Given the description of an element on the screen output the (x, y) to click on. 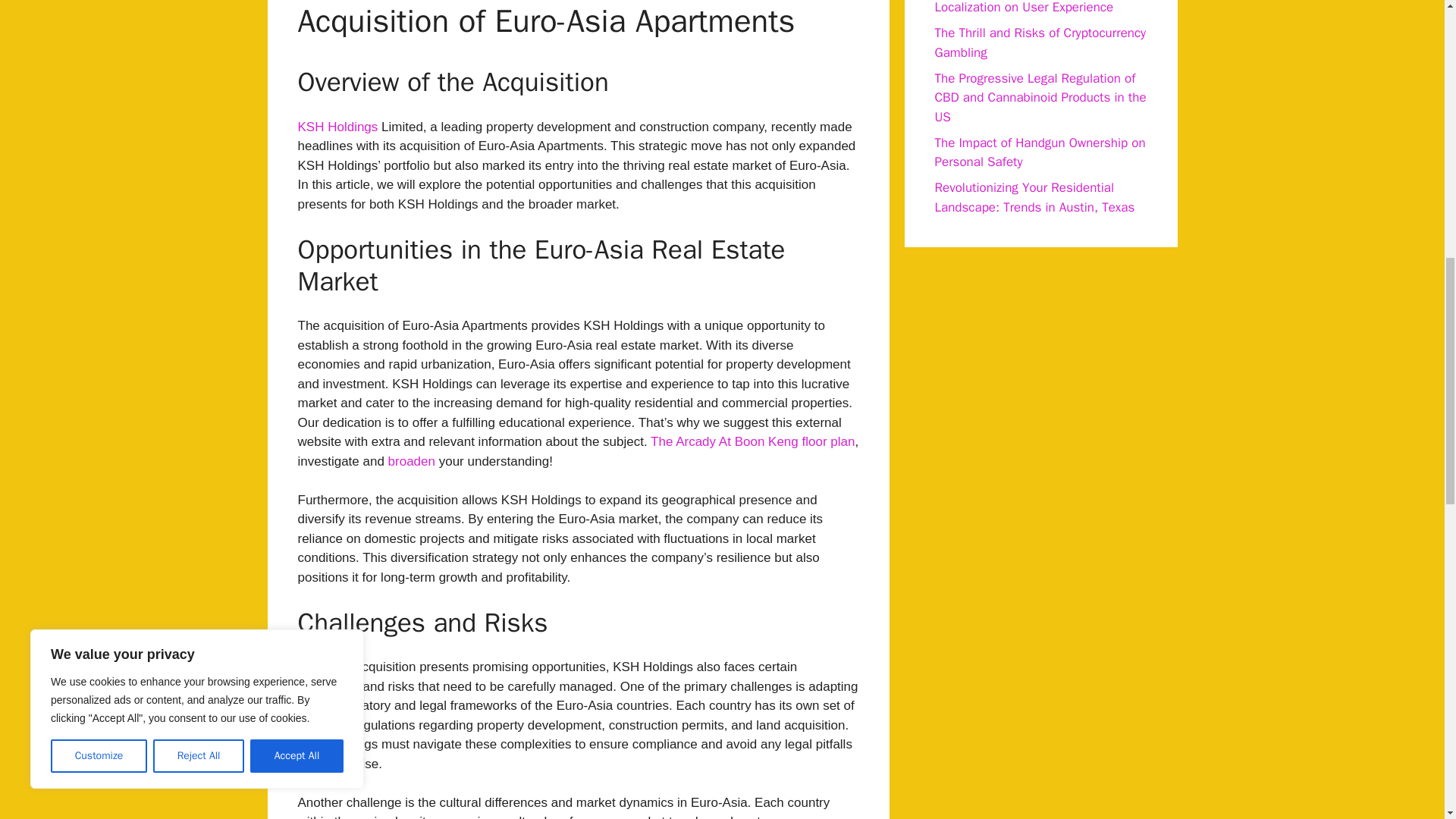
KSH Holdings (337, 126)
The Arcady At Boon Keng floor plan (752, 441)
broaden (411, 460)
